Given the description of an element on the screen output the (x, y) to click on. 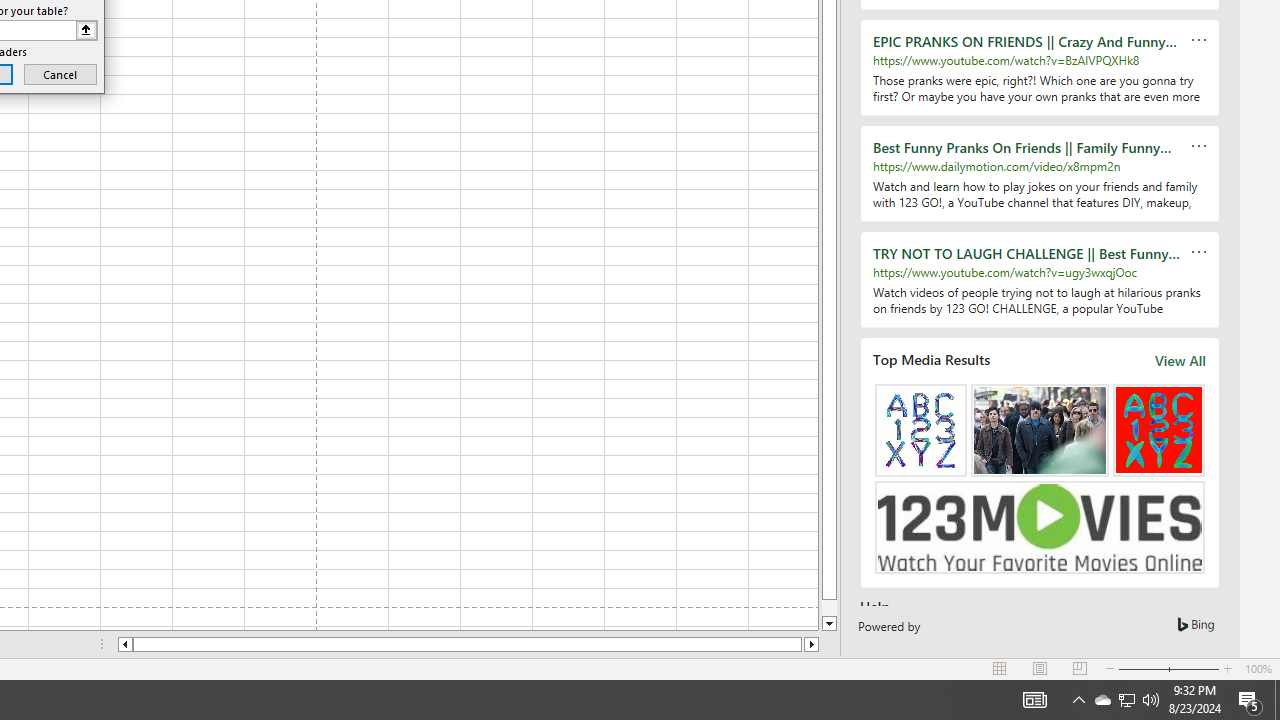
Cancel (60, 74)
Notification Chevron (1078, 699)
Show desktop (1277, 699)
User Promoted Notification Area (1126, 699)
Action Center, 5 new notifications (1250, 699)
Page down (829, 607)
AutomationID: 4105 (1034, 699)
